Given the description of an element on the screen output the (x, y) to click on. 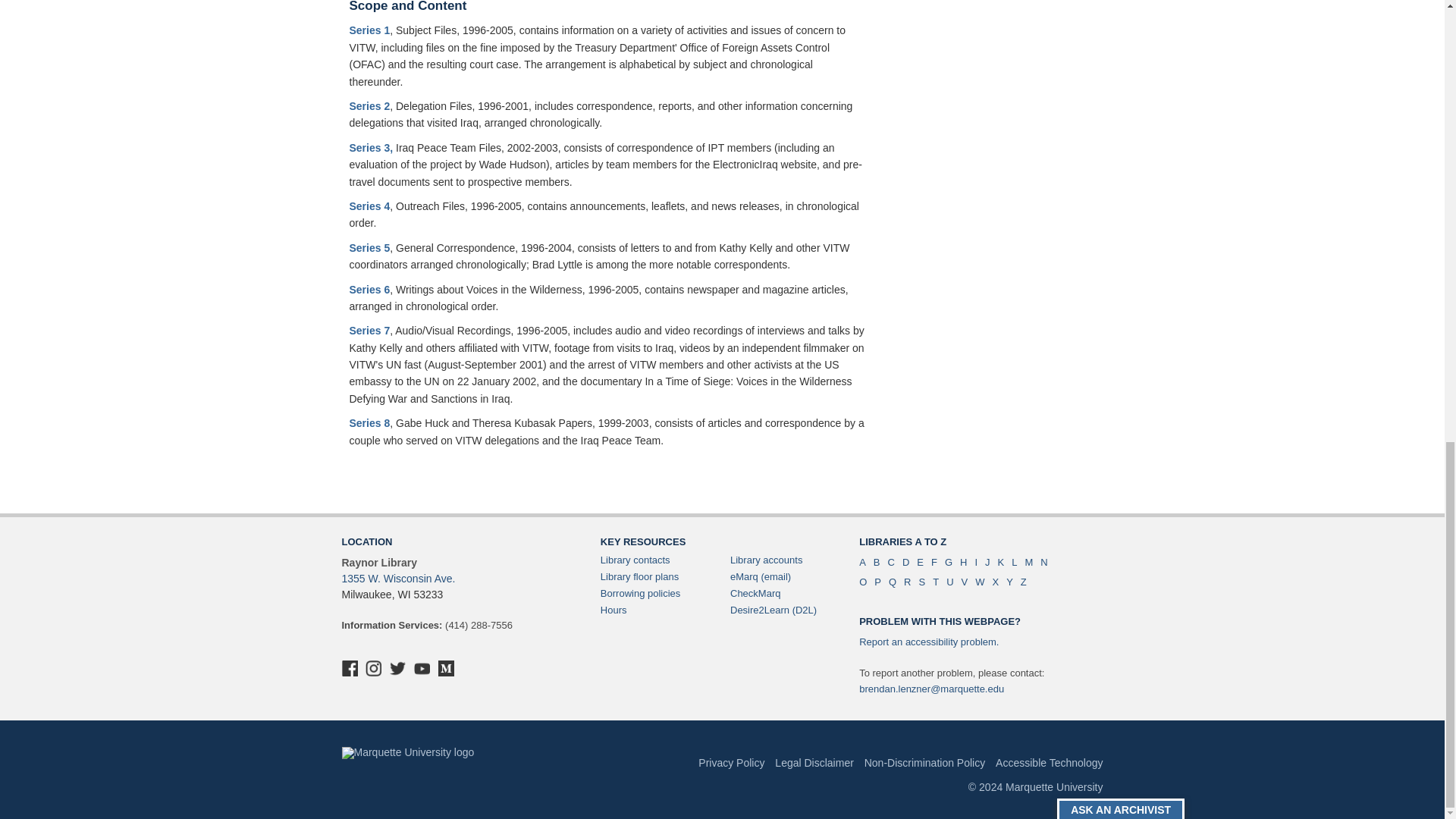
Series 5 (369, 247)
Series 3, (371, 147)
Series 7 (369, 330)
Series 6 (369, 288)
Series 1 (369, 30)
Series 2 (369, 105)
Series 8 (369, 422)
View the hours for Raynor Library (613, 609)
1355 W. Wisconsin Ave. (397, 578)
Series 4 (369, 205)
